Given the description of an element on the screen output the (x, y) to click on. 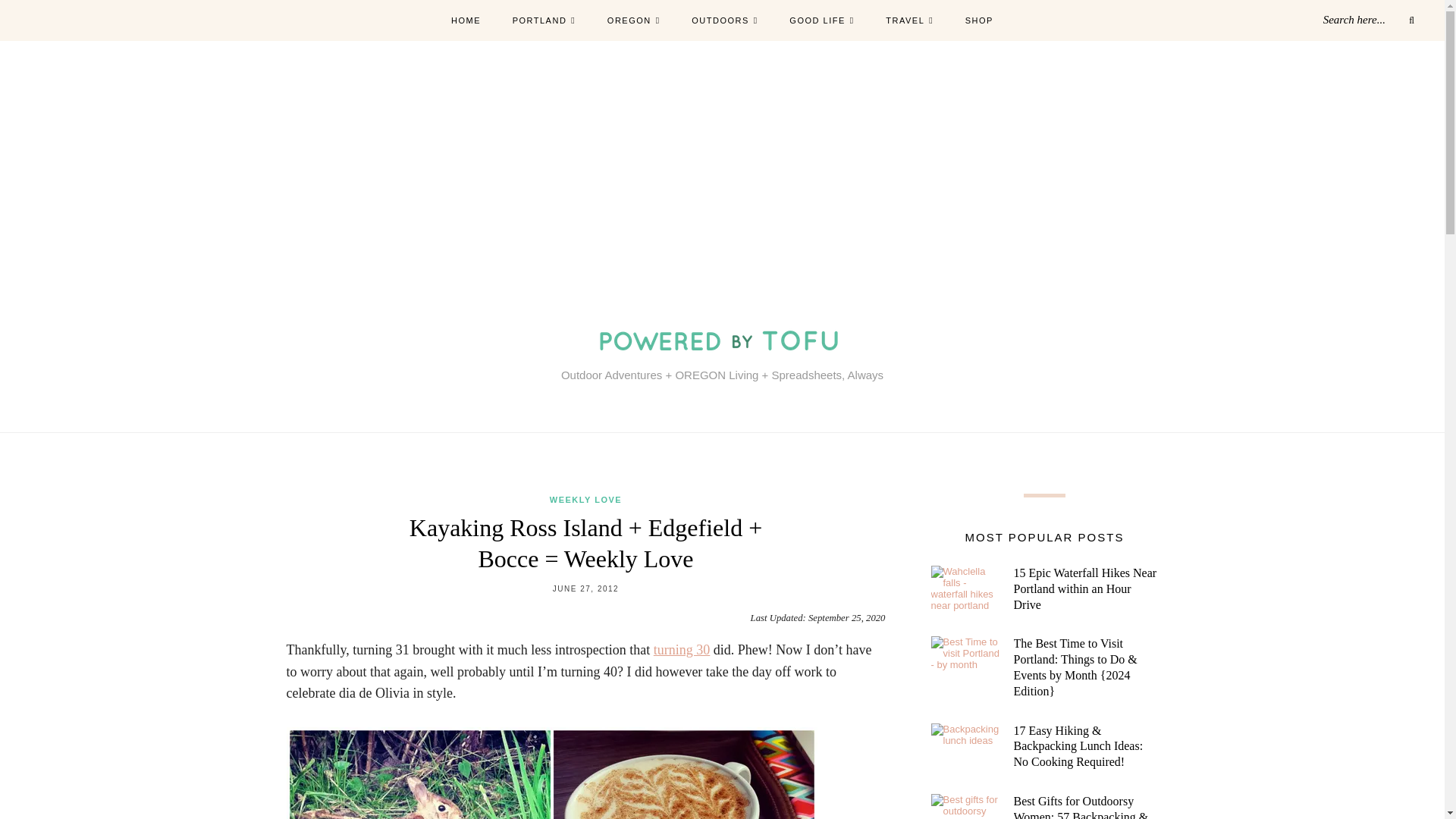
Edgefield birthday (551, 773)
TRAVEL (909, 20)
GOOD LIFE (821, 20)
OUTDOORS (724, 20)
PORTLAND (544, 20)
OREGON (634, 20)
